Given the description of an element on the screen output the (x, y) to click on. 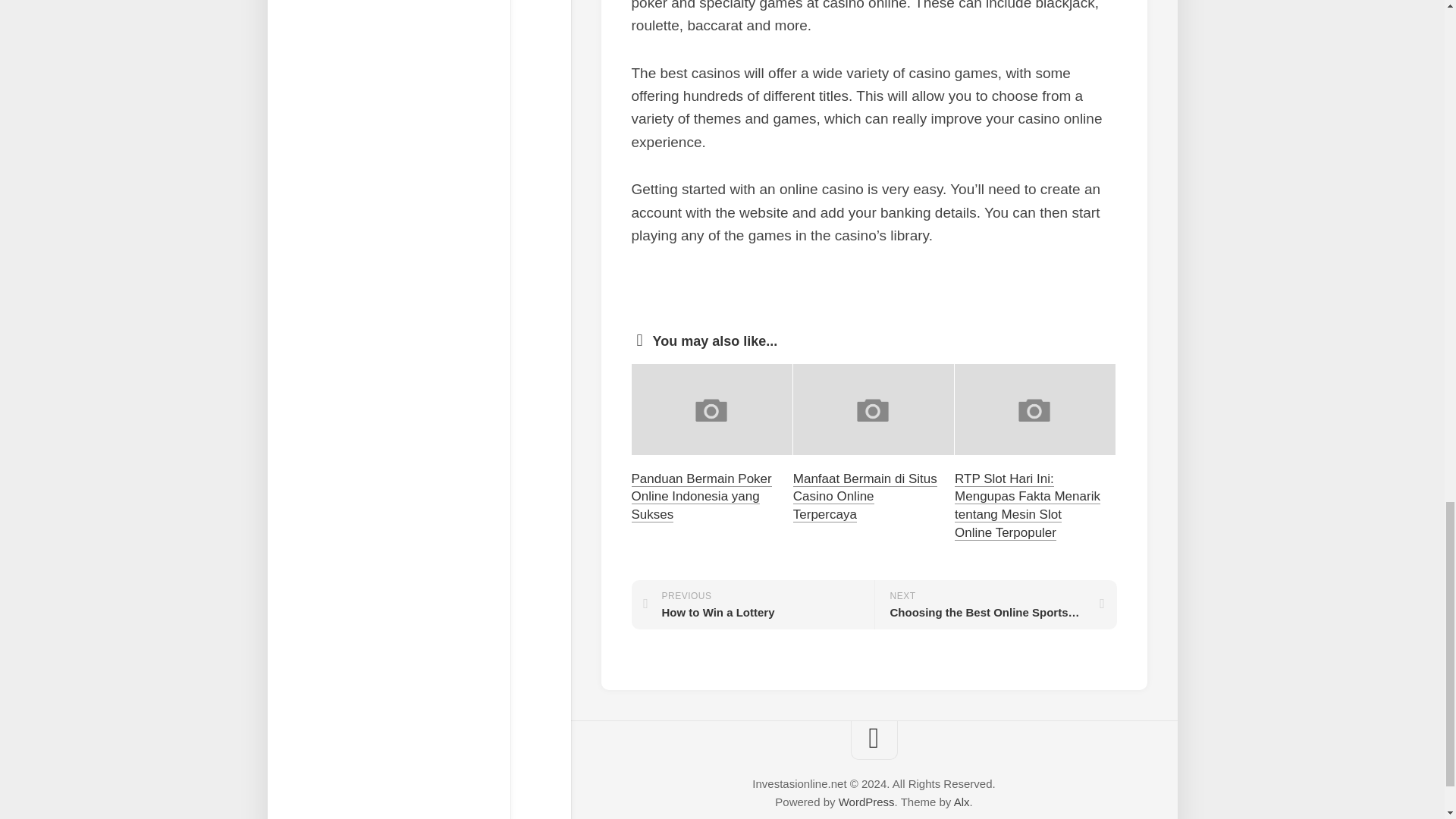
Panduan Bermain Poker Online Indonesia yang Sukses (700, 496)
Alx (994, 604)
Manfaat Bermain di Situs Casino Online Terpercaya (751, 604)
WordPress (961, 801)
